Given the description of an element on the screen output the (x, y) to click on. 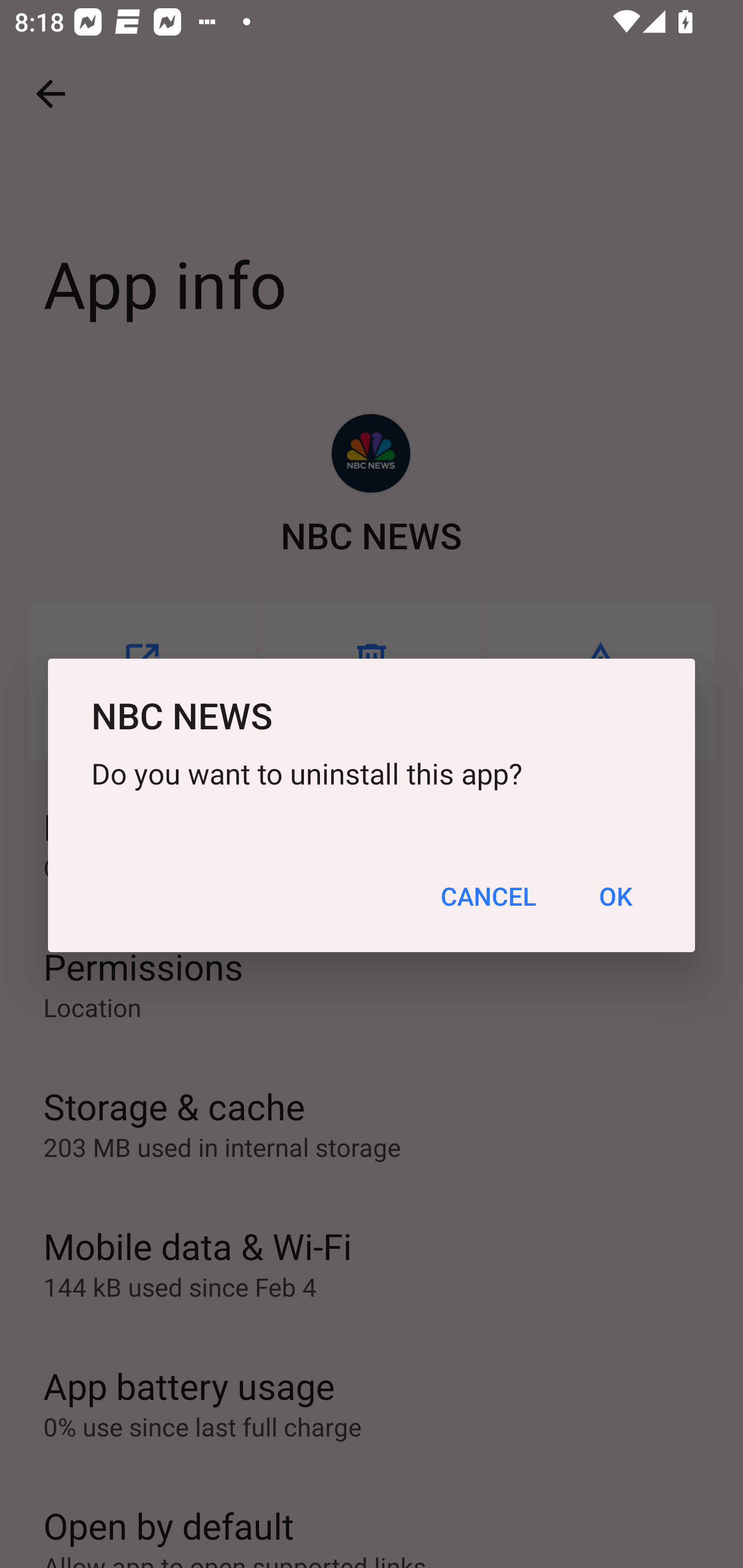
CANCEL (488, 895)
OK (615, 895)
